Given the description of an element on the screen output the (x, y) to click on. 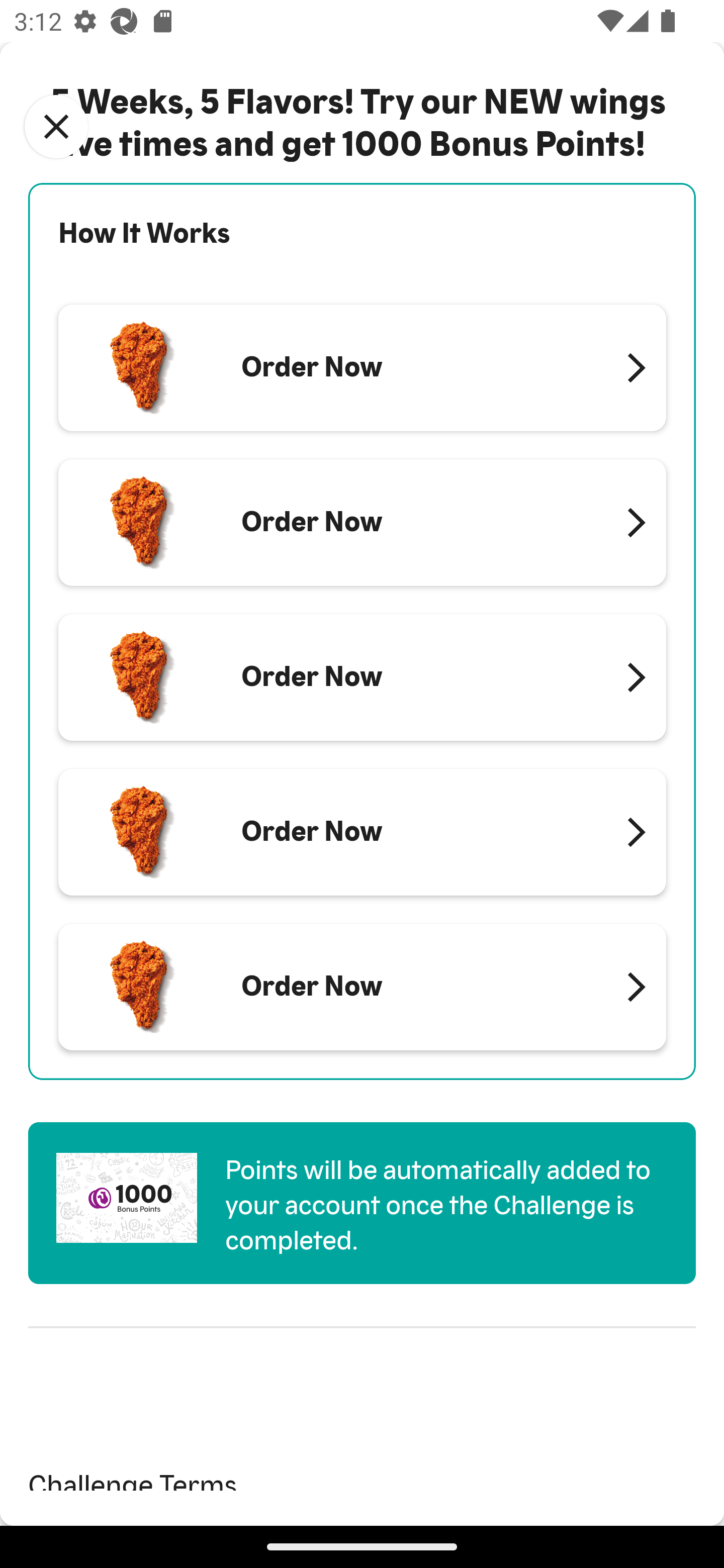
Close  (56, 126)
Order Now (362, 367)
Order Now (362, 522)
Order Now (362, 677)
Order Now (362, 831)
Order Now (362, 986)
